Given the description of an element on the screen output the (x, y) to click on. 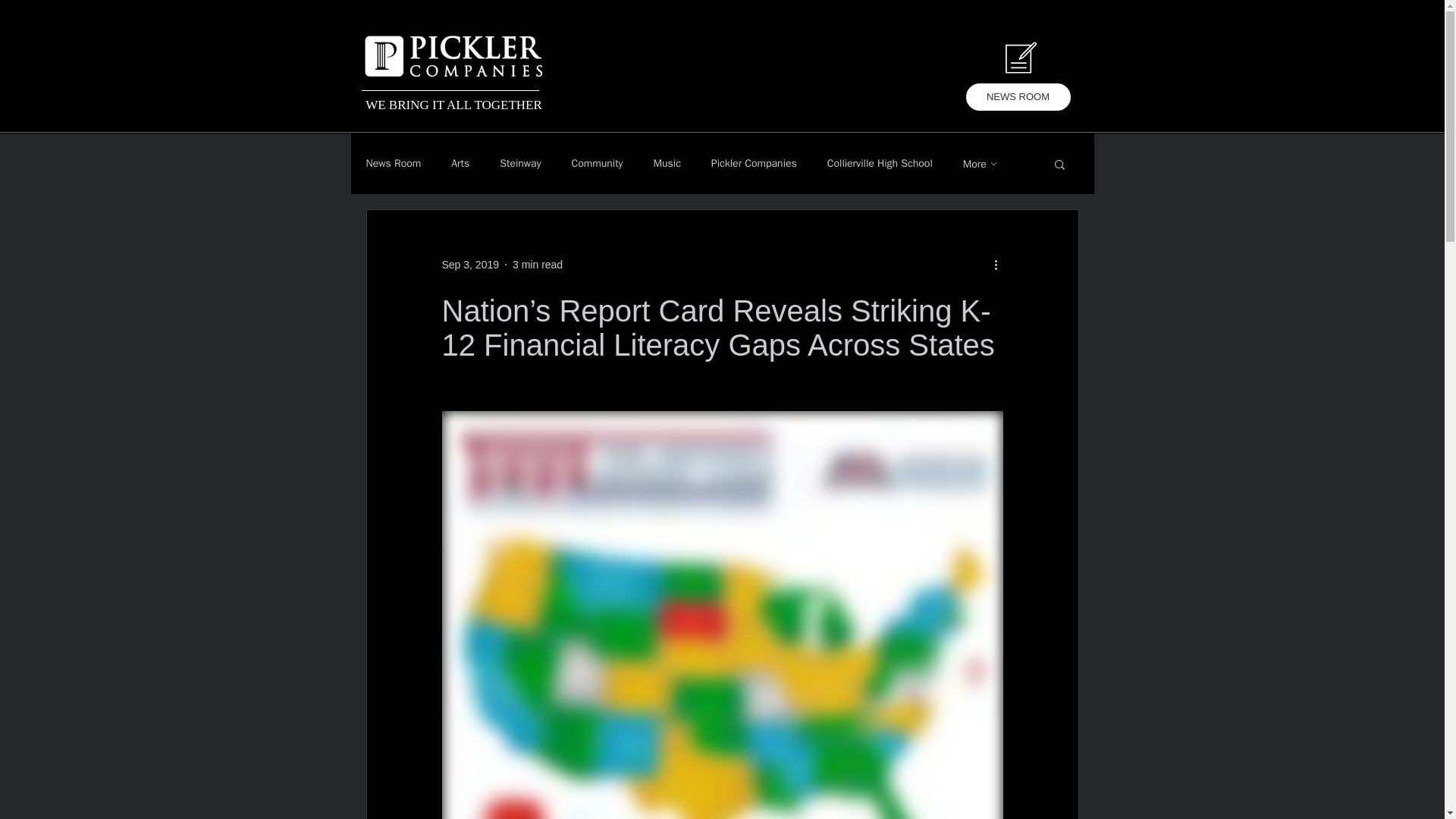
Music (665, 163)
NEWS ROOM (1017, 96)
Arts (459, 163)
News Room (392, 163)
WE BRING IT ALL TOGETHER (453, 104)
Sep 3, 2019 (470, 263)
Collierville High School (880, 163)
3 min read (537, 263)
Steinway (519, 163)
Community (597, 163)
Pickler Companies (753, 163)
